Given the description of an element on the screen output the (x, y) to click on. 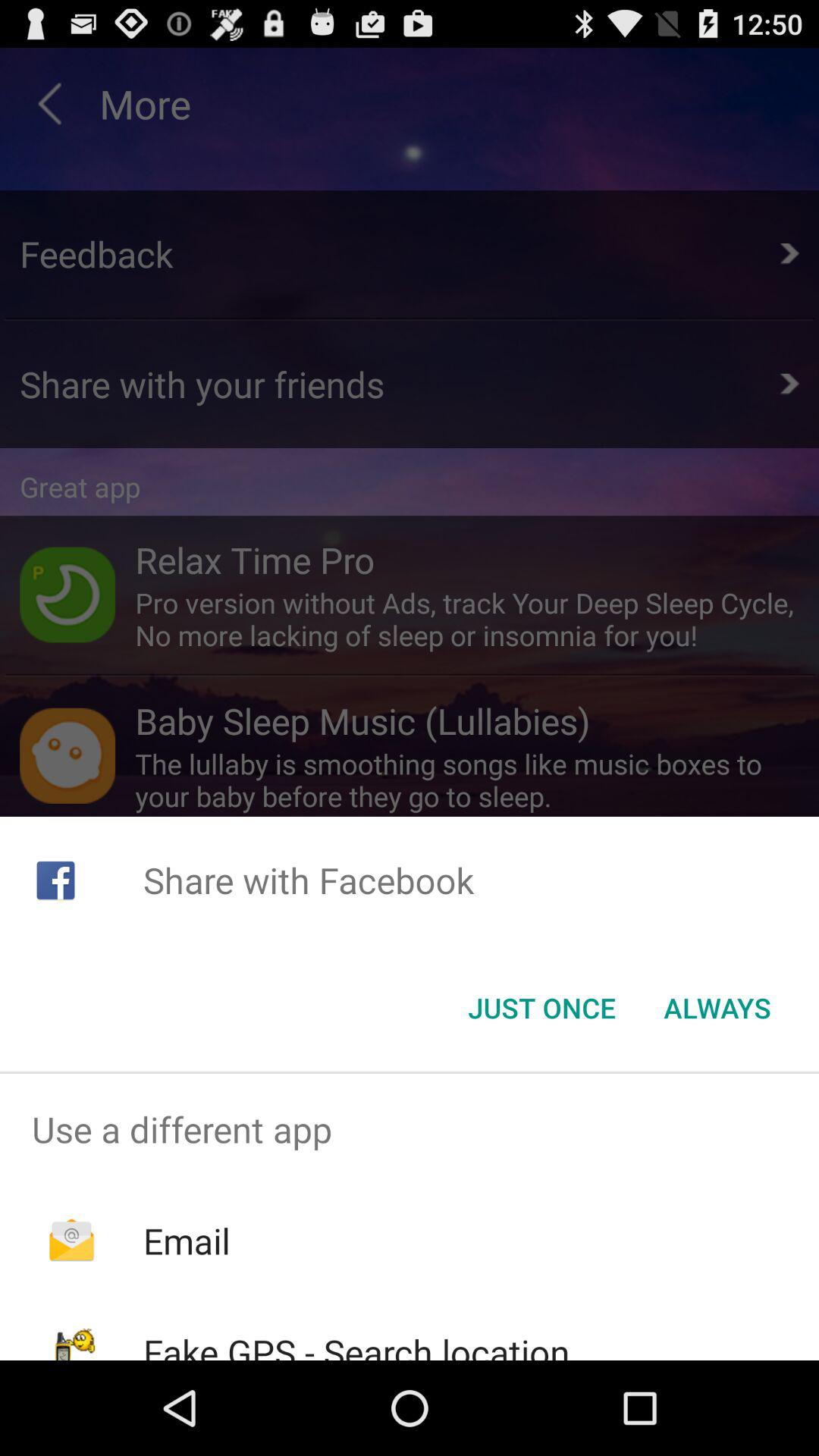
launch email app (186, 1240)
